Given the description of an element on the screen output the (x, y) to click on. 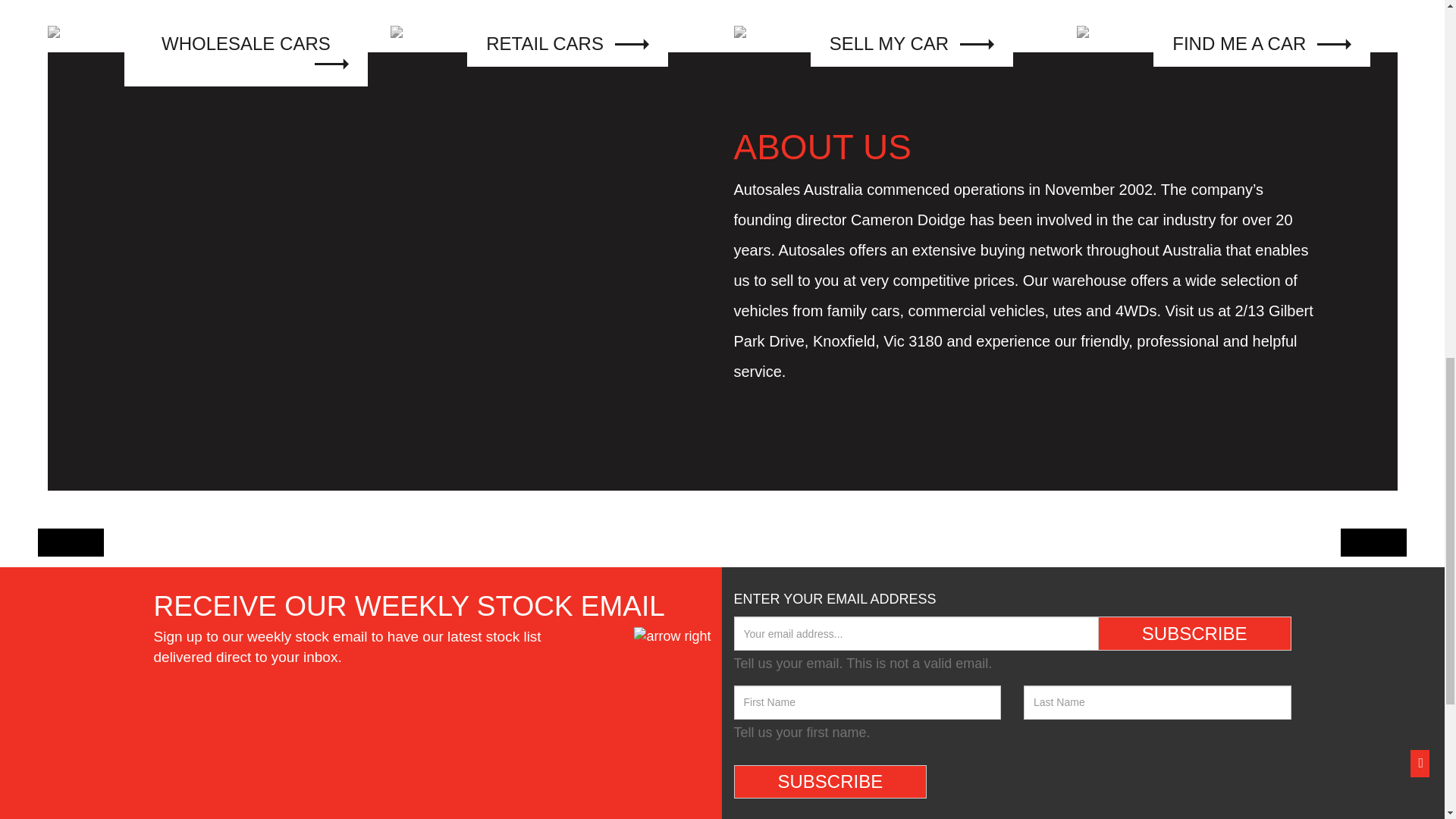
SUBSCRIBE (1194, 633)
SUBSCRIBE (830, 781)
WHOLESALE CARS (207, 35)
SELL MY CAR (893, 35)
RETAIL CARS (550, 35)
FIND ME A CAR (1237, 35)
